Given the description of an element on the screen output the (x, y) to click on. 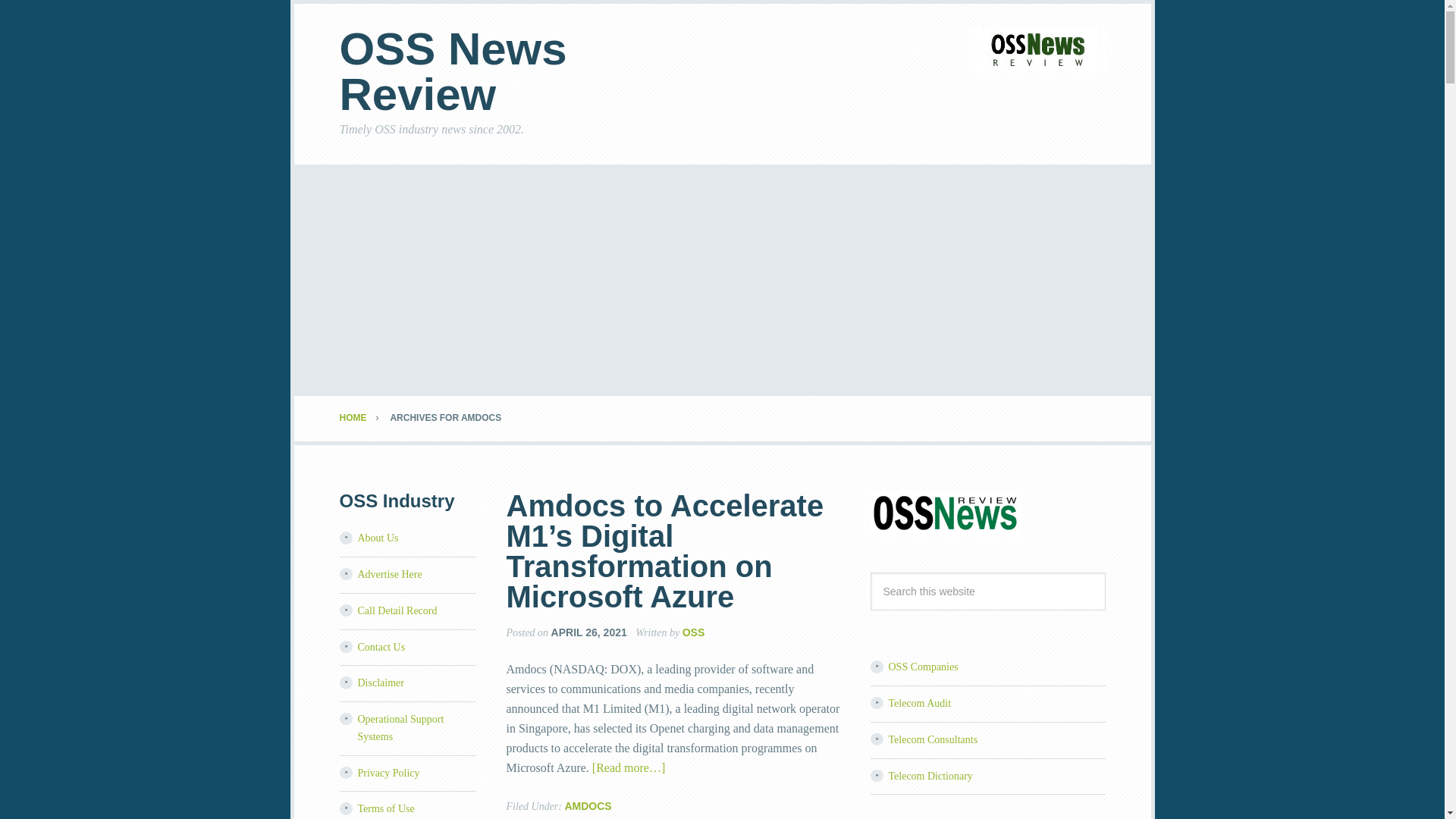
AMDOCS (587, 806)
OSS (693, 632)
HOME (363, 417)
OSS News Review (453, 71)
